Given the description of an element on the screen output the (x, y) to click on. 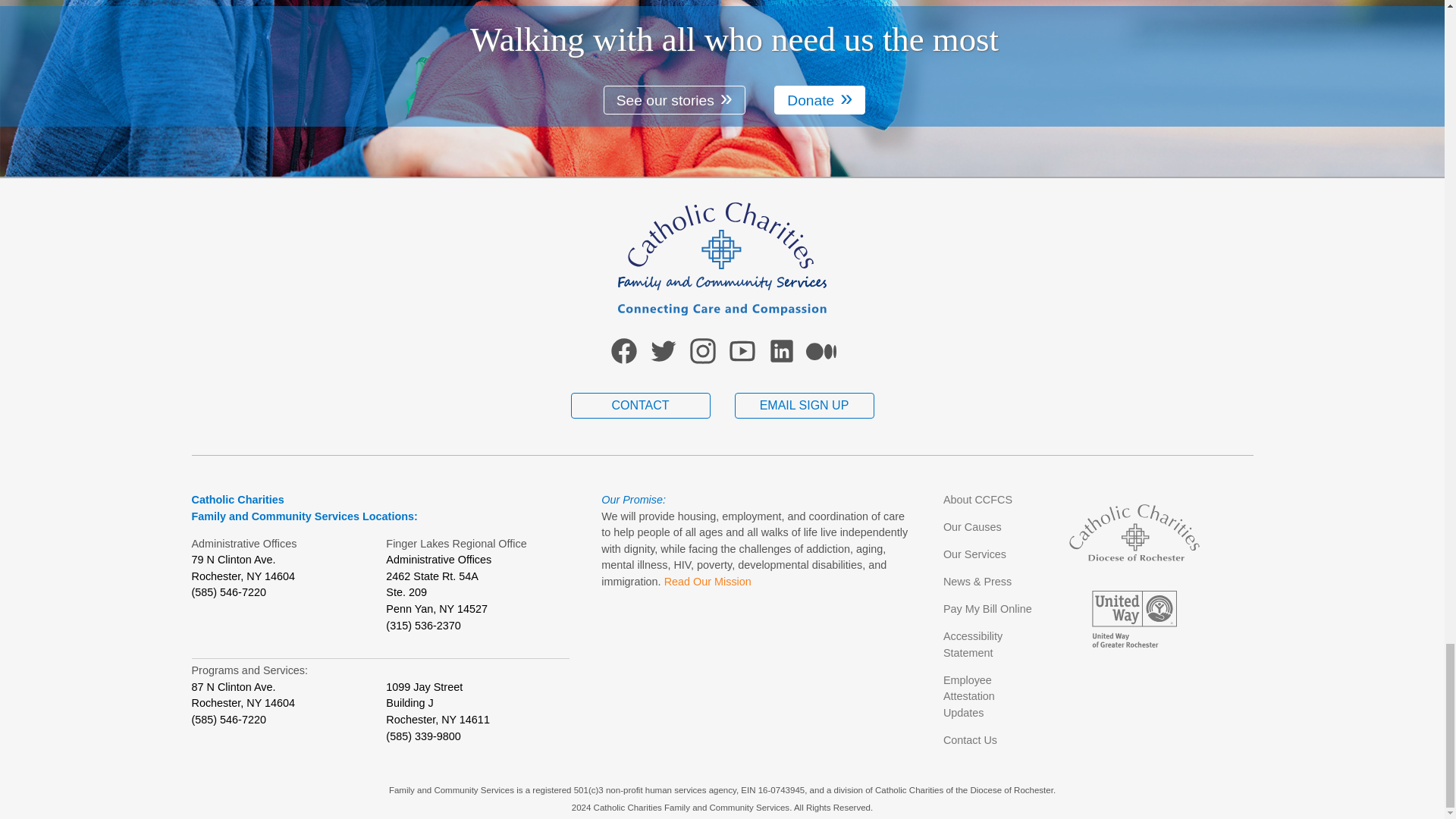
YouTube (741, 361)
United Way of Greater Rochester and the Finger Lakes (1134, 615)
LinkedIn (780, 361)
Medium (820, 361)
Instagram (702, 361)
Facebook (623, 361)
Catholic Charities Family and Community Services (722, 310)
Catholic Charities DOR (1134, 529)
